Given the description of an element on the screen output the (x, y) to click on. 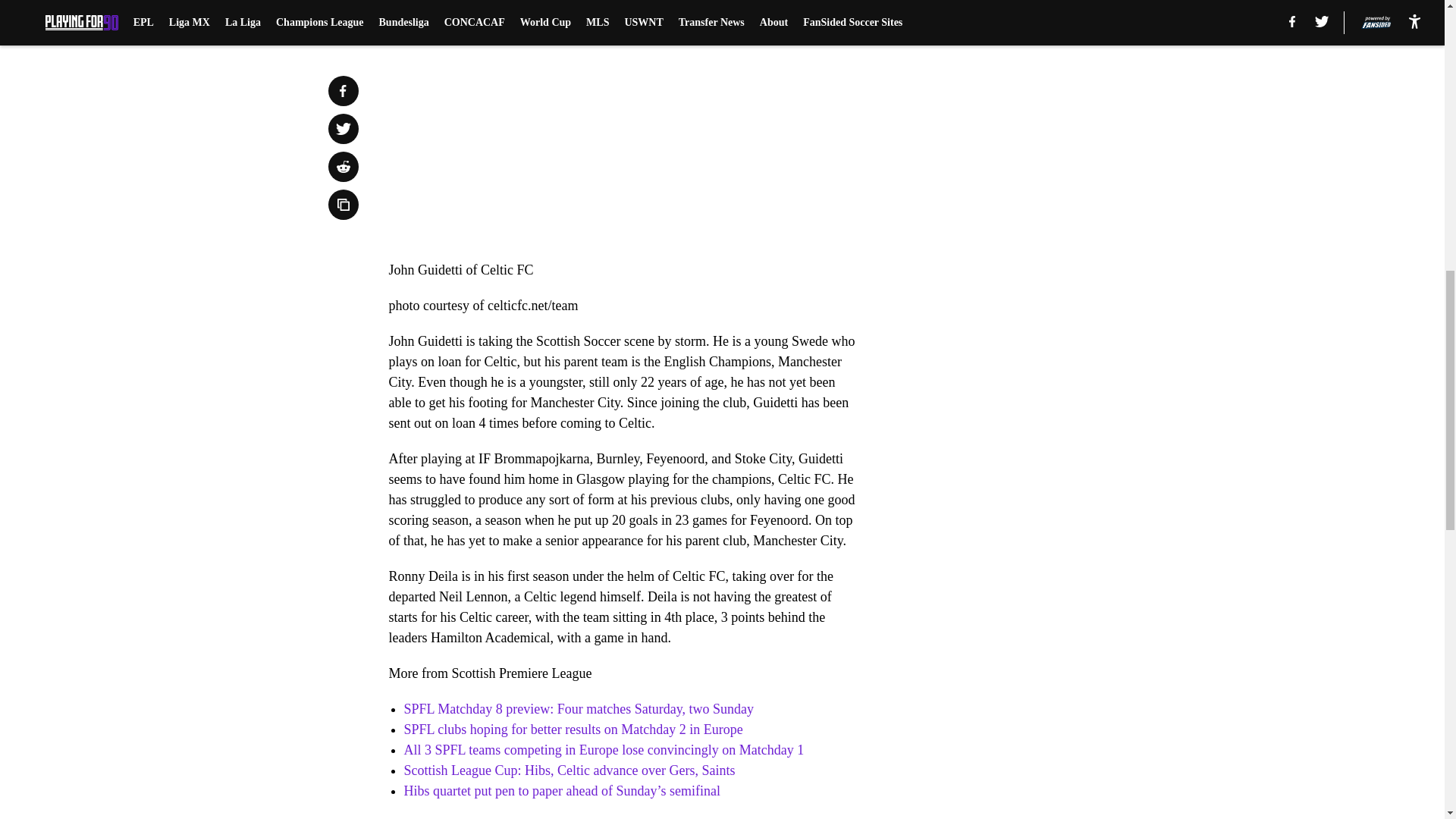
Scottish League Cup: Hibs, Celtic advance over Gers, Saints (569, 770)
SPFL Matchday 8 preview: Four matches Saturday, two Sunday (578, 708)
SPFL clubs hoping for better results on Matchday 2 in Europe (572, 729)
